Given the description of an element on the screen output the (x, y) to click on. 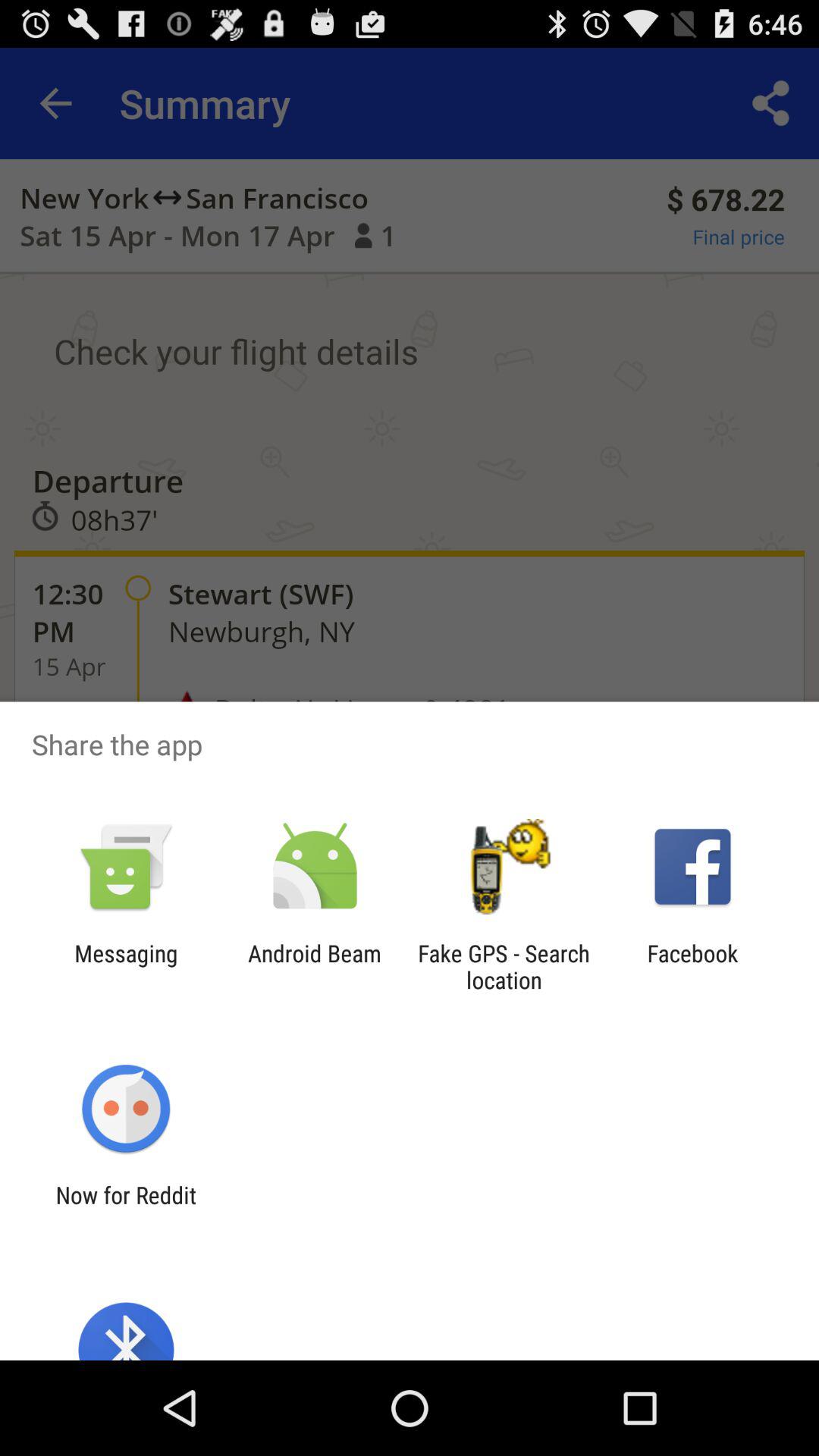
jump until the facebook item (692, 966)
